Given the description of an element on the screen output the (x, y) to click on. 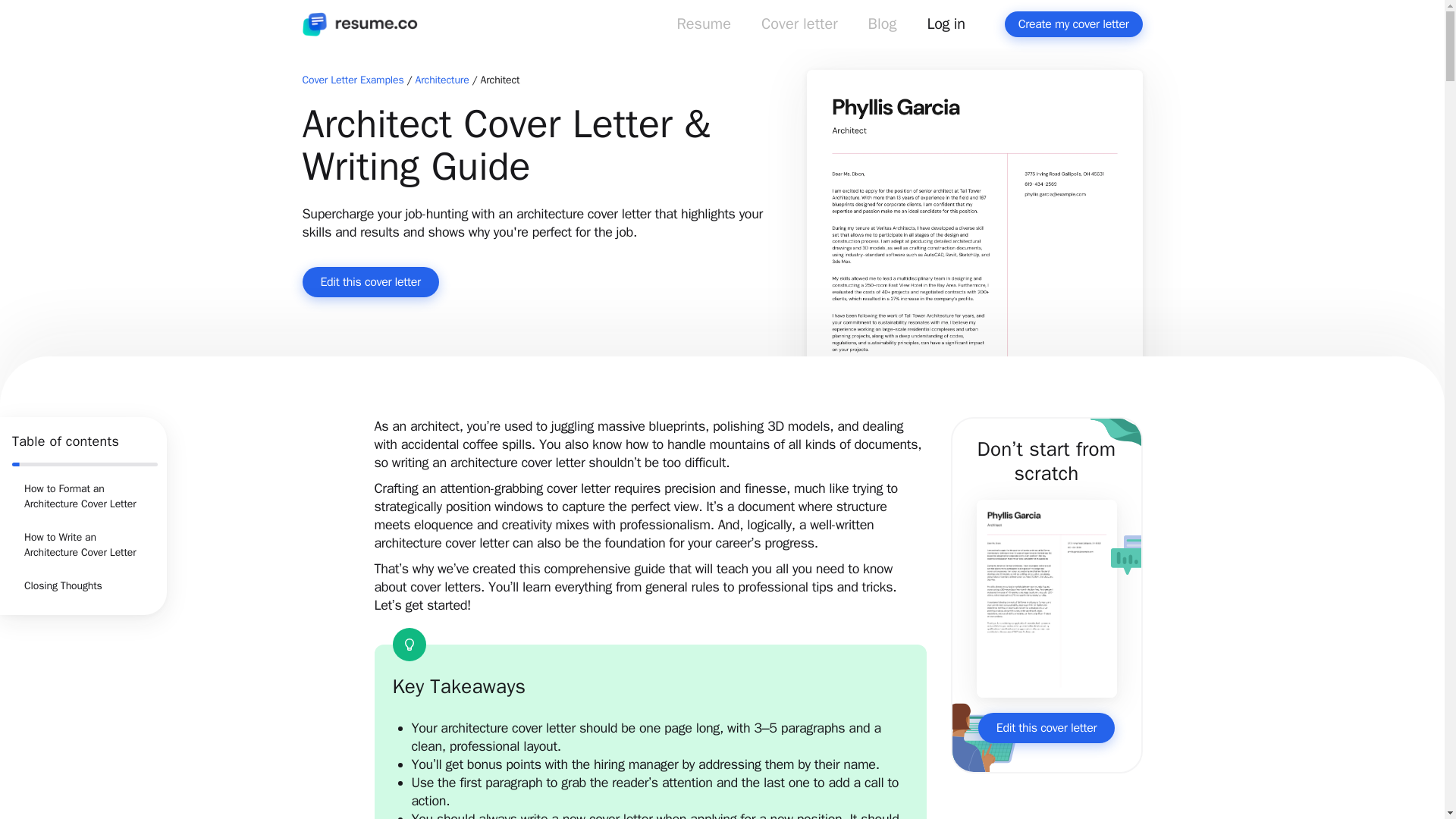
Cover letter (799, 26)
Log in (945, 26)
Cover Letter Examples (352, 79)
Blog (882, 26)
Architecture (441, 79)
Resume (703, 26)
Edit this cover letter (369, 281)
Create my cover letter (1073, 23)
Edit this cover letter (1046, 727)
